Given the description of an element on the screen output the (x, y) to click on. 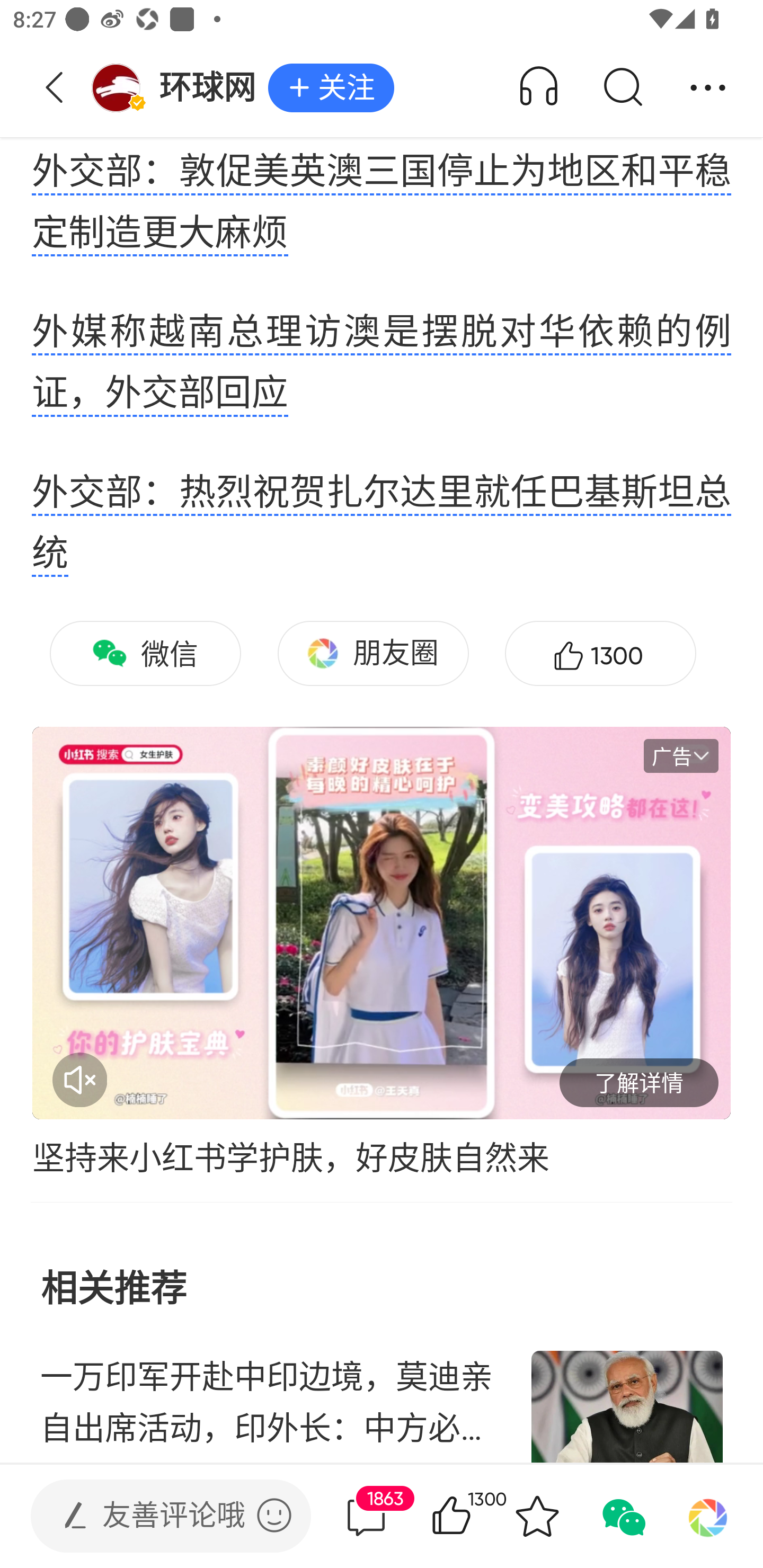
环球网 (179, 87)
搜索  (622, 87)
分享  (707, 87)
 返回 (54, 87)
 关注 (330, 88)
外交部：敦促美英澳三国停止为地区和平稳定制造更大麻烦 (381, 204)
外媒称越南总理访澳是摆脱对华依赖的例证，外交部回应 (381, 362)
外交部：热烈祝贺扎尔达里就任巴基斯坦总统 (381, 522)
微信 分享到微信 (145, 653)
朋友圈 分享到朋友圈 (373, 653)
1300赞 (600, 653)
广告 (680, 755)
音量开关 (79, 1079)
了解详情 (638, 1082)
坚持来小红书学护肤，好皮肤自然来 (381, 1158)
相关推荐 (381, 1266)
一万印军开赴中印边境，莫迪亲自出席活动，印外长：中方必须遵守承诺 (381, 1396)
发表评论  友善评论哦 发表评论  (155, 1516)
1863评论  1863 评论 (365, 1516)
1300赞 (476, 1516)
收藏  (536, 1516)
分享到微信  (622, 1516)
分享到朋友圈 (707, 1516)
 (274, 1515)
